Given the description of an element on the screen output the (x, y) to click on. 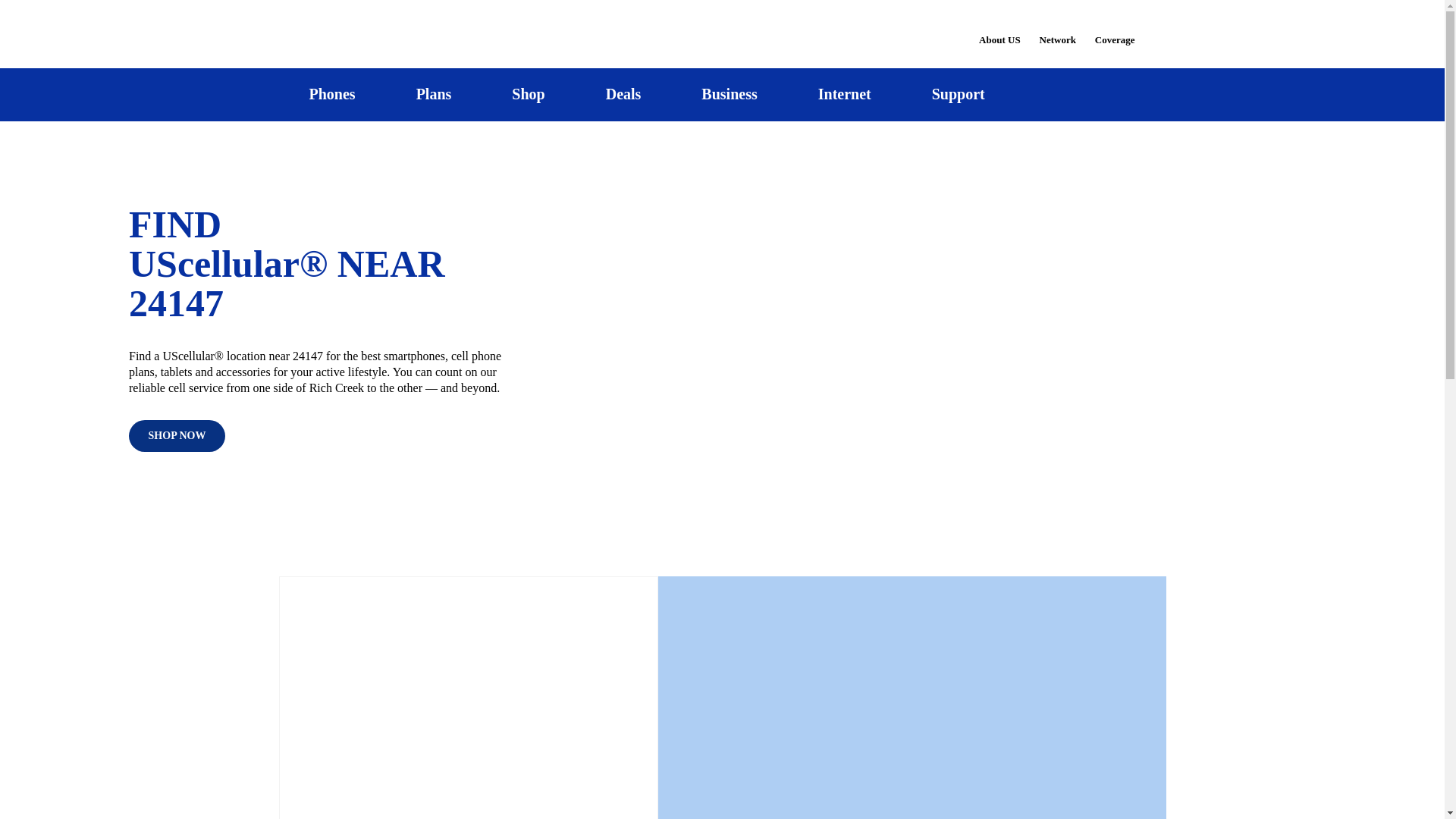
Plans (433, 94)
Deals (623, 94)
Internet (844, 94)
Support (957, 94)
About US (999, 30)
Phones (332, 94)
Shop (528, 94)
Business (729, 94)
Network (1057, 30)
SHOP NOW (177, 436)
